Given the description of an element on the screen output the (x, y) to click on. 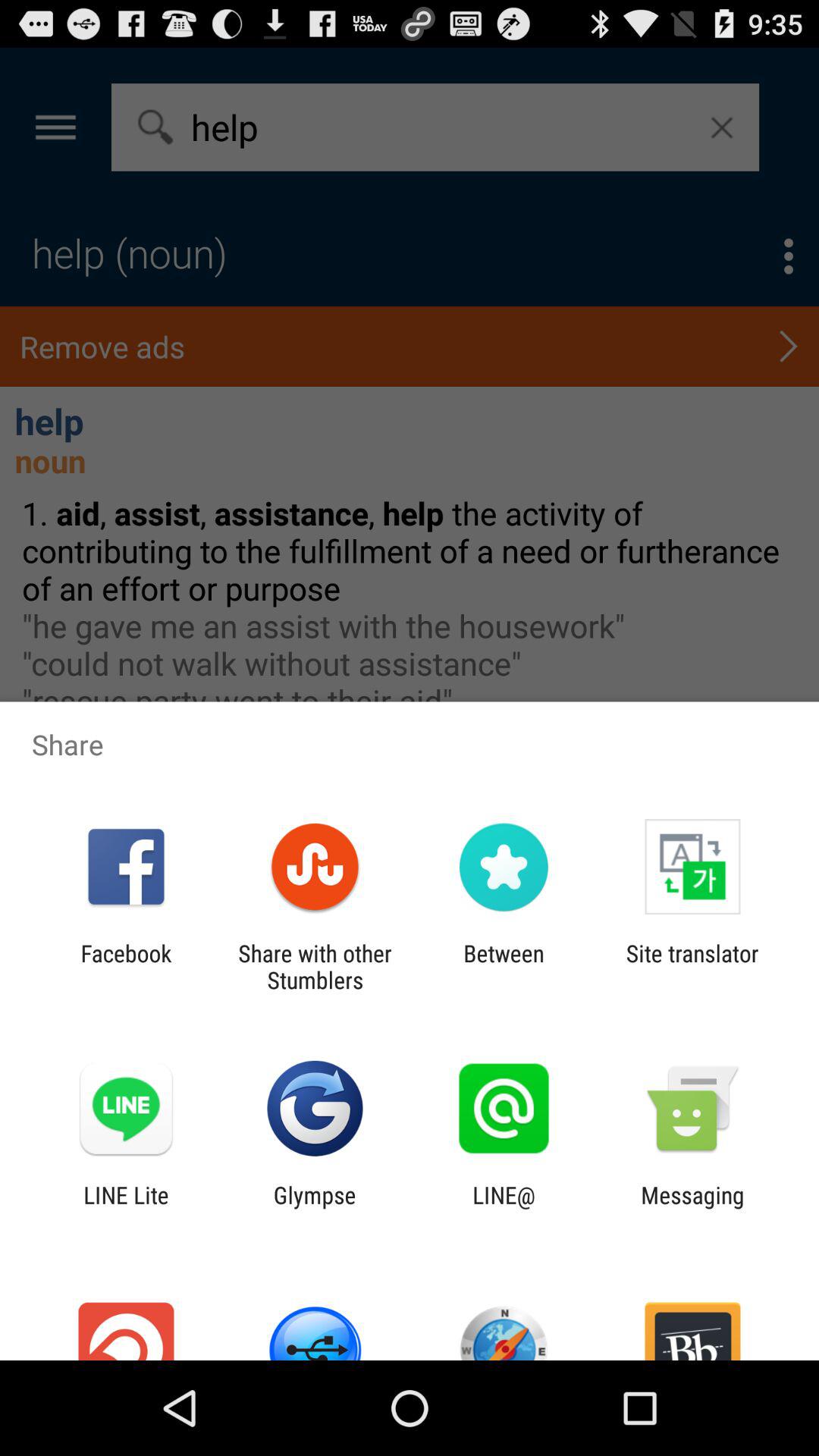
tap the between icon (503, 966)
